Given the description of an element on the screen output the (x, y) to click on. 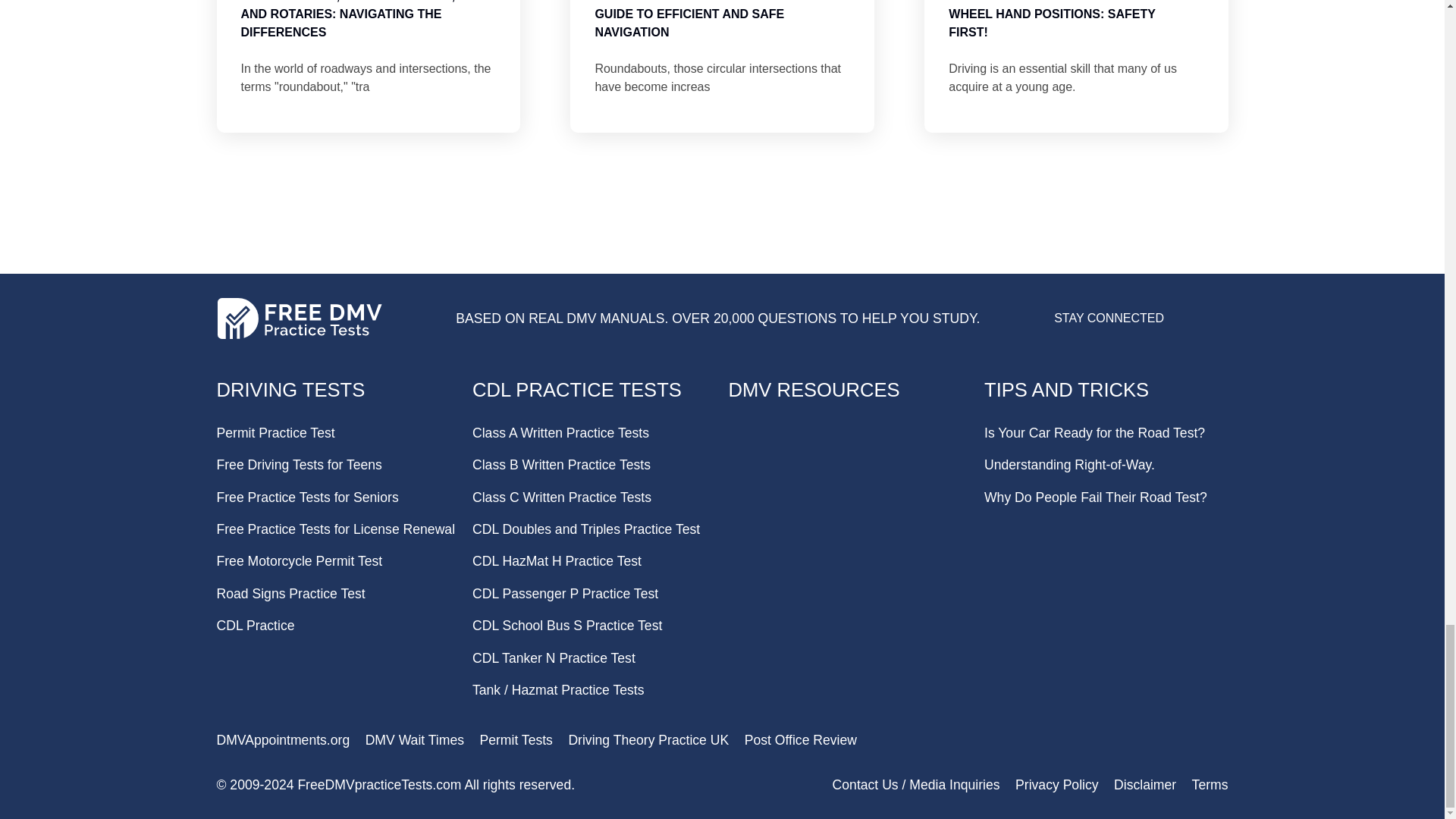
Start your practice test now (721, 261)
Permit Practice Test (275, 432)
DRIVING TESTS (290, 389)
Free Driving Tests for Teenagers (298, 464)
Facebook (1183, 323)
Free Practice Tests for Seniors (307, 497)
Twitter (1216, 323)
Free DMV Practice Test (290, 389)
Start your practice test now (721, 261)
Free Driving Tests for Teens (298, 464)
Free Permit Practice Test (275, 432)
